Given the description of an element on the screen output the (x, y) to click on. 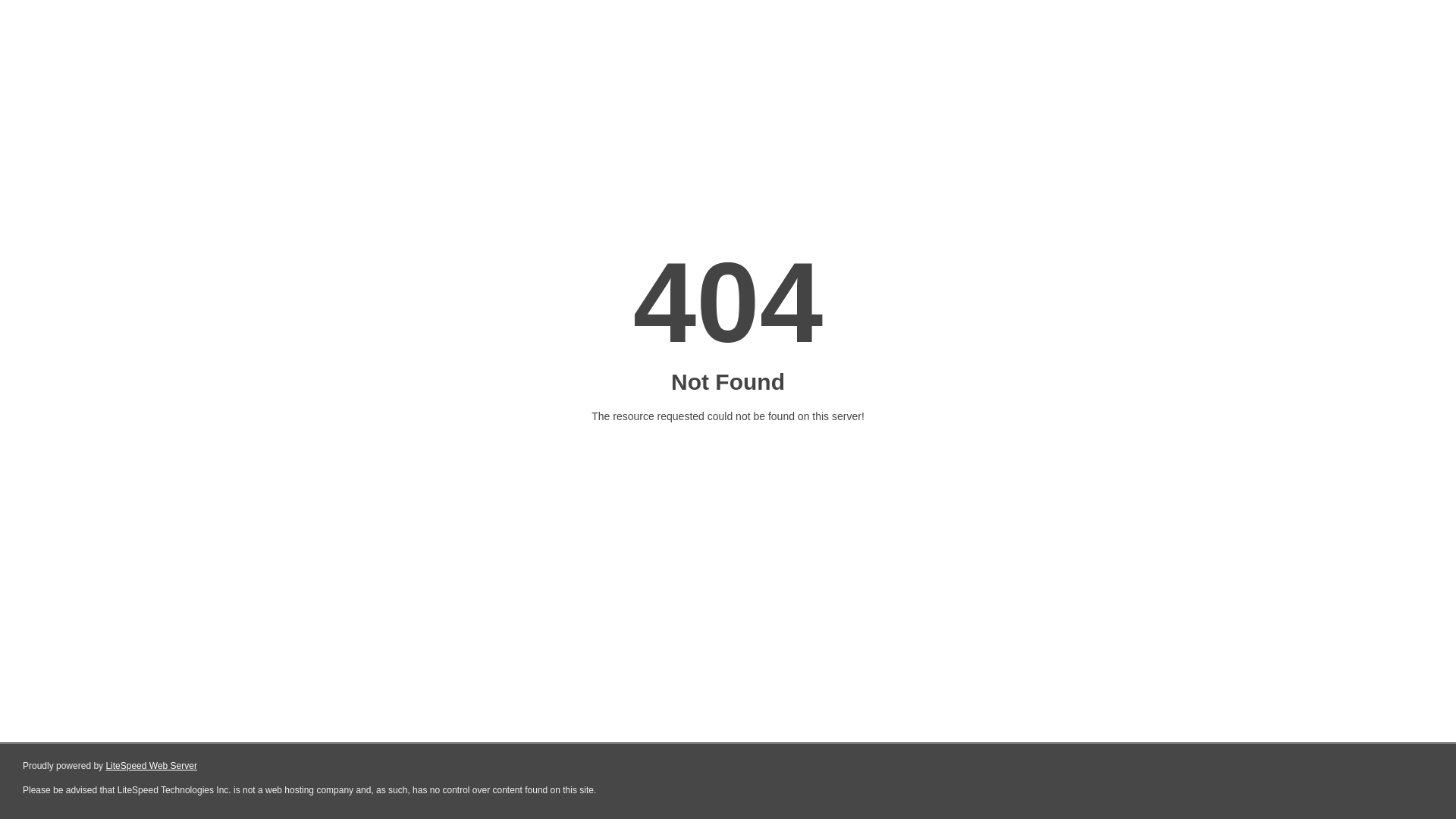
LiteSpeed Web Server (150, 765)
